Given the description of an element on the screen output the (x, y) to click on. 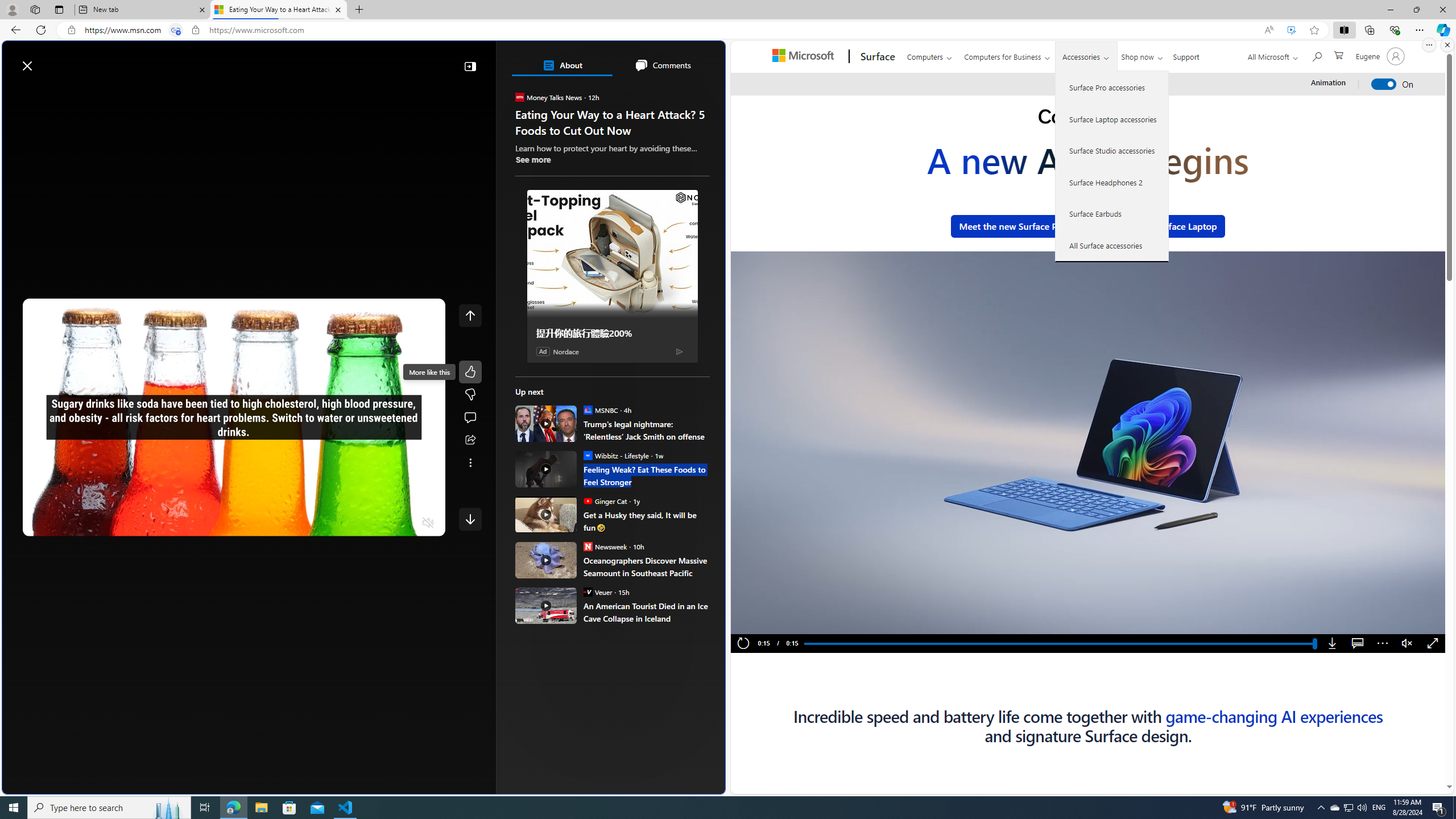
Skip to footer (46, 59)
An American Tourist Died in an Ice Cave Collapse in Iceland (646, 611)
Comments (662, 64)
Share this story (469, 440)
The Associated Press (554, 366)
Personalized for You (616, 163)
